Given the description of an element on the screen output the (x, y) to click on. 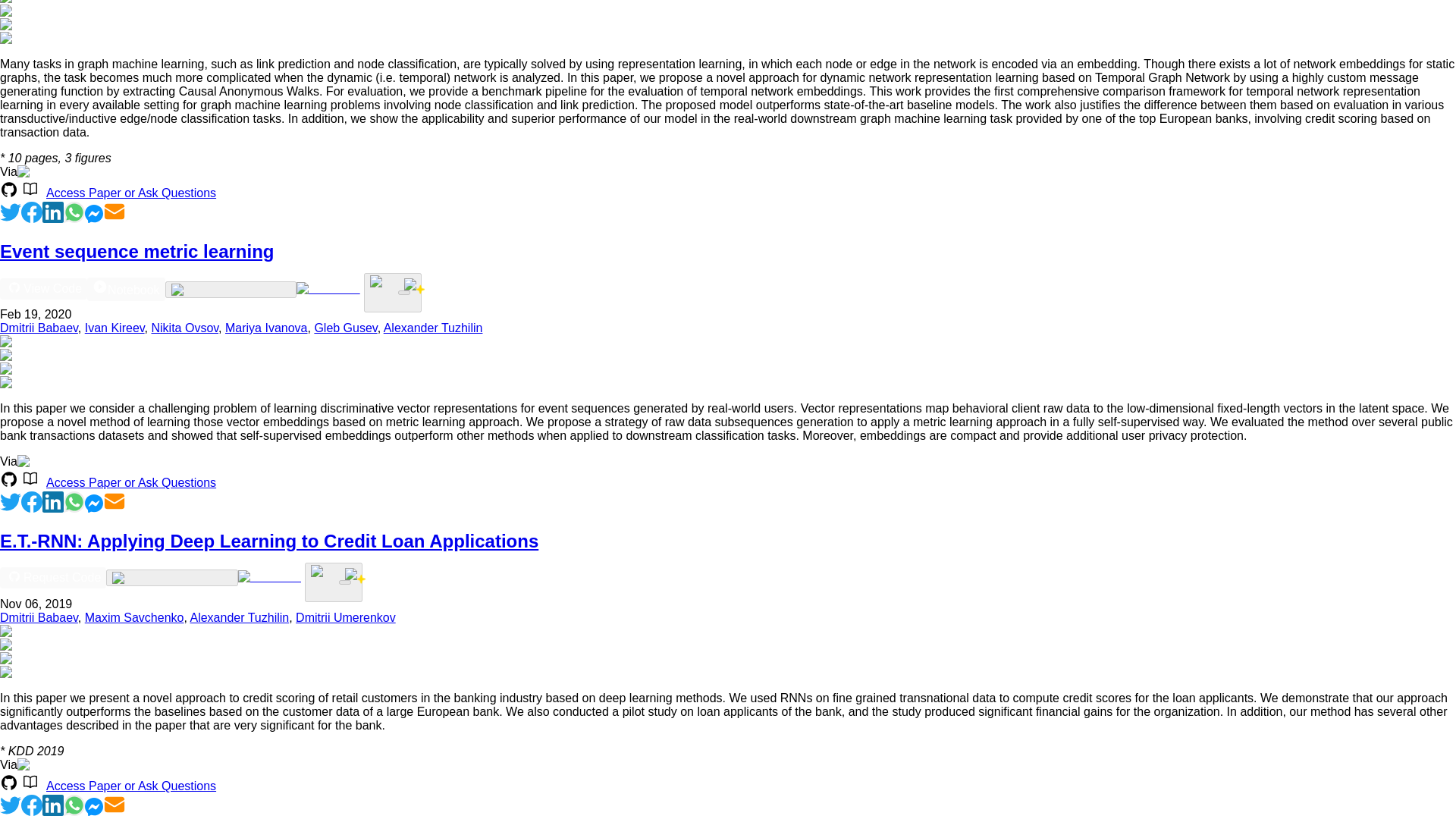
Github Icon (8, 189)
Share via Email (114, 508)
Send via Messenger (93, 508)
Contribute your code for this paper to the community (328, 288)
Bookmark this paper (393, 292)
Get alerts when new code is available for this paper (403, 292)
Share via Email (114, 218)
Send via Messenger (93, 218)
View code for similar papers (230, 289)
